Given the description of an element on the screen output the (x, y) to click on. 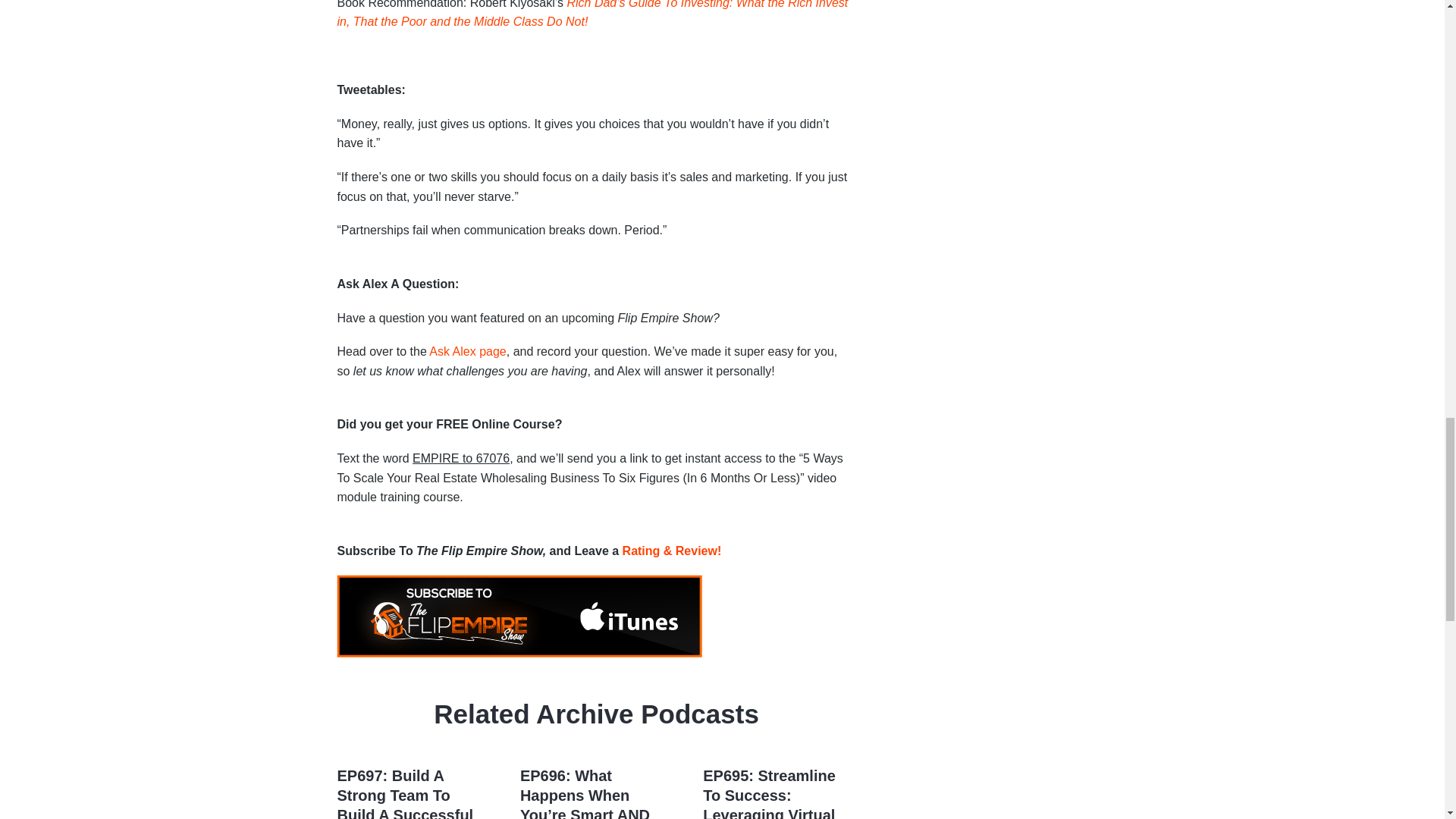
EP697: Build A Strong Team To Build A Successful Business (404, 793)
Ask Alex page (467, 350)
